Given the description of an element on the screen output the (x, y) to click on. 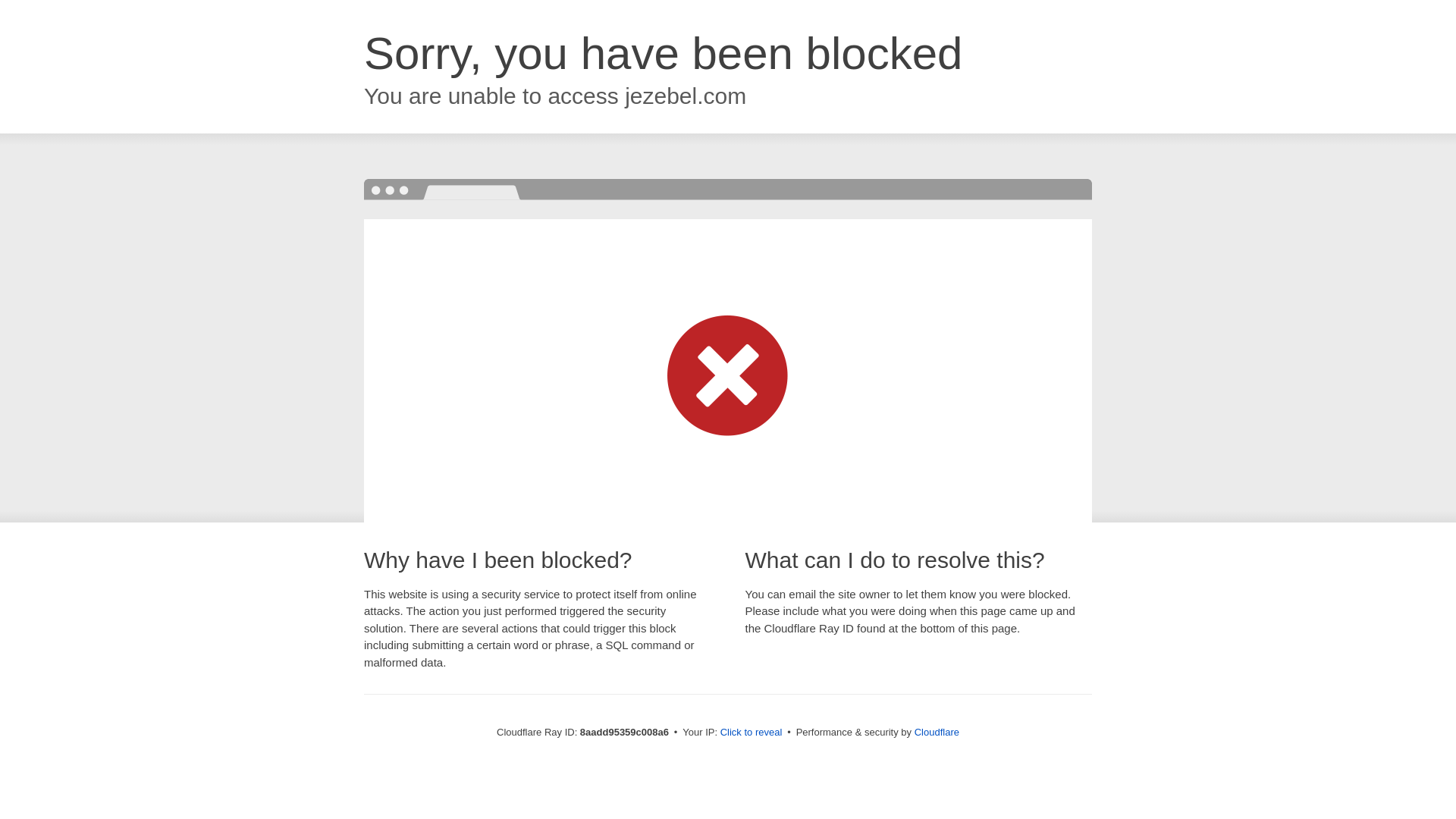
Click to reveal (751, 732)
Cloudflare (936, 731)
